Given the description of an element on the screen output the (x, y) to click on. 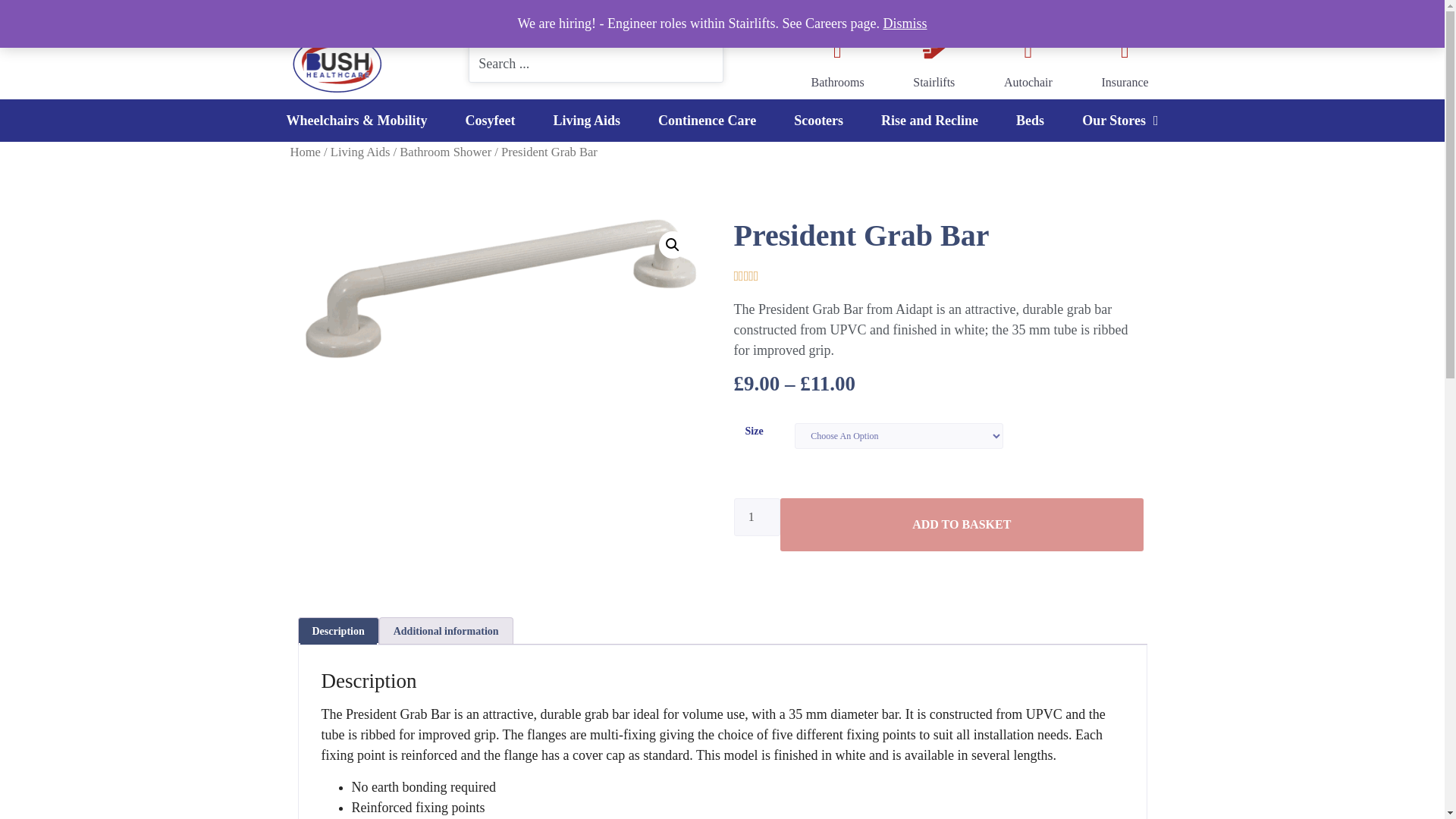
PHONE 01685 884226 (359, 14)
1 (756, 516)
Screenshot 2020-11-13 130712 (500, 287)
